Given the description of an element on the screen output the (x, y) to click on. 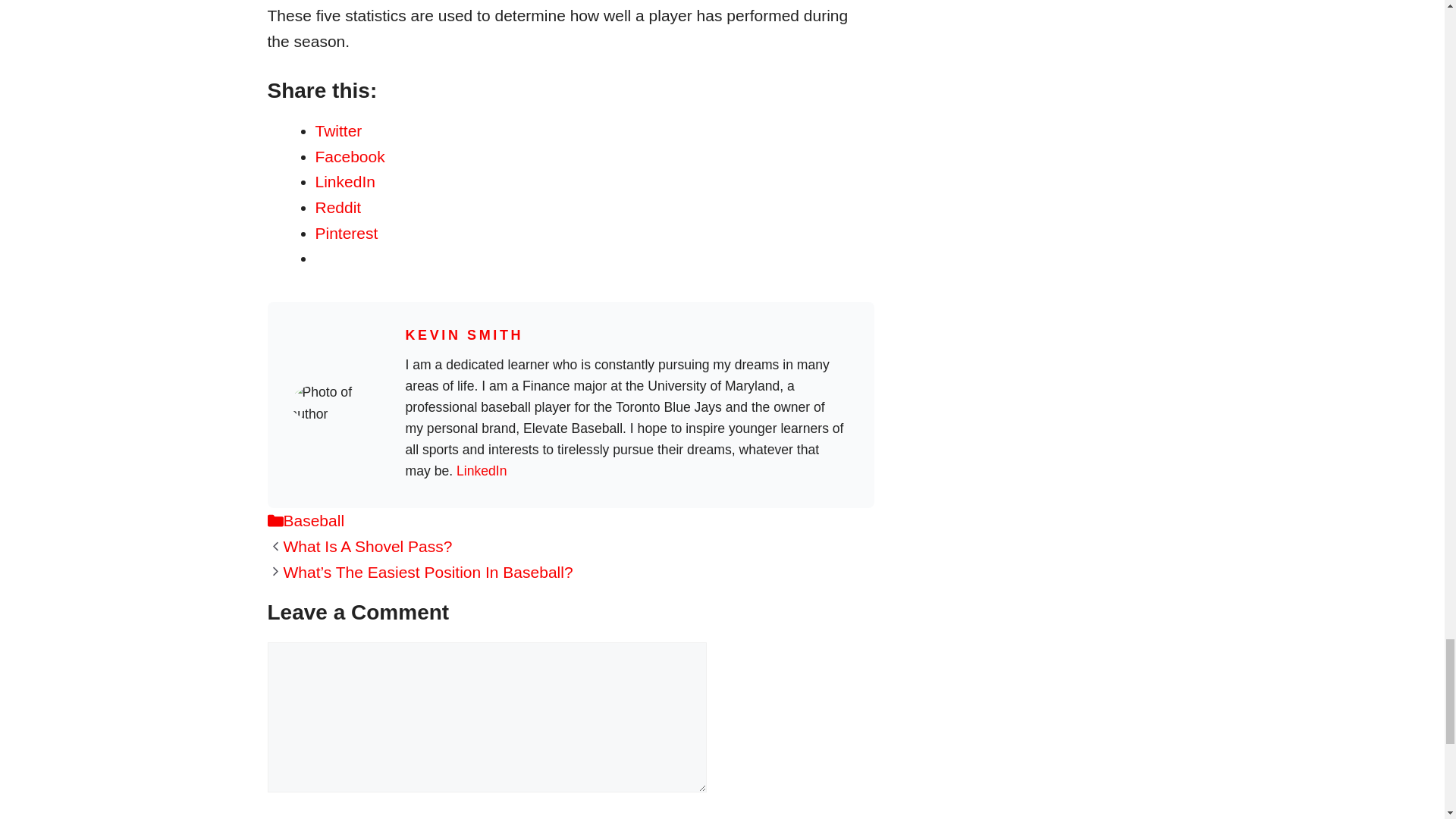
Pinterest (346, 232)
Click to share on Reddit (338, 207)
KEVIN SMITH (463, 335)
Reddit (338, 207)
Click to share on Twitter (338, 130)
LinkedIn (345, 181)
Click to share on Pinterest (346, 232)
What Is A Shovel Pass? (367, 546)
Click to share on LinkedIn (345, 181)
Click to share on Facebook (350, 156)
